Given the description of an element on the screen output the (x, y) to click on. 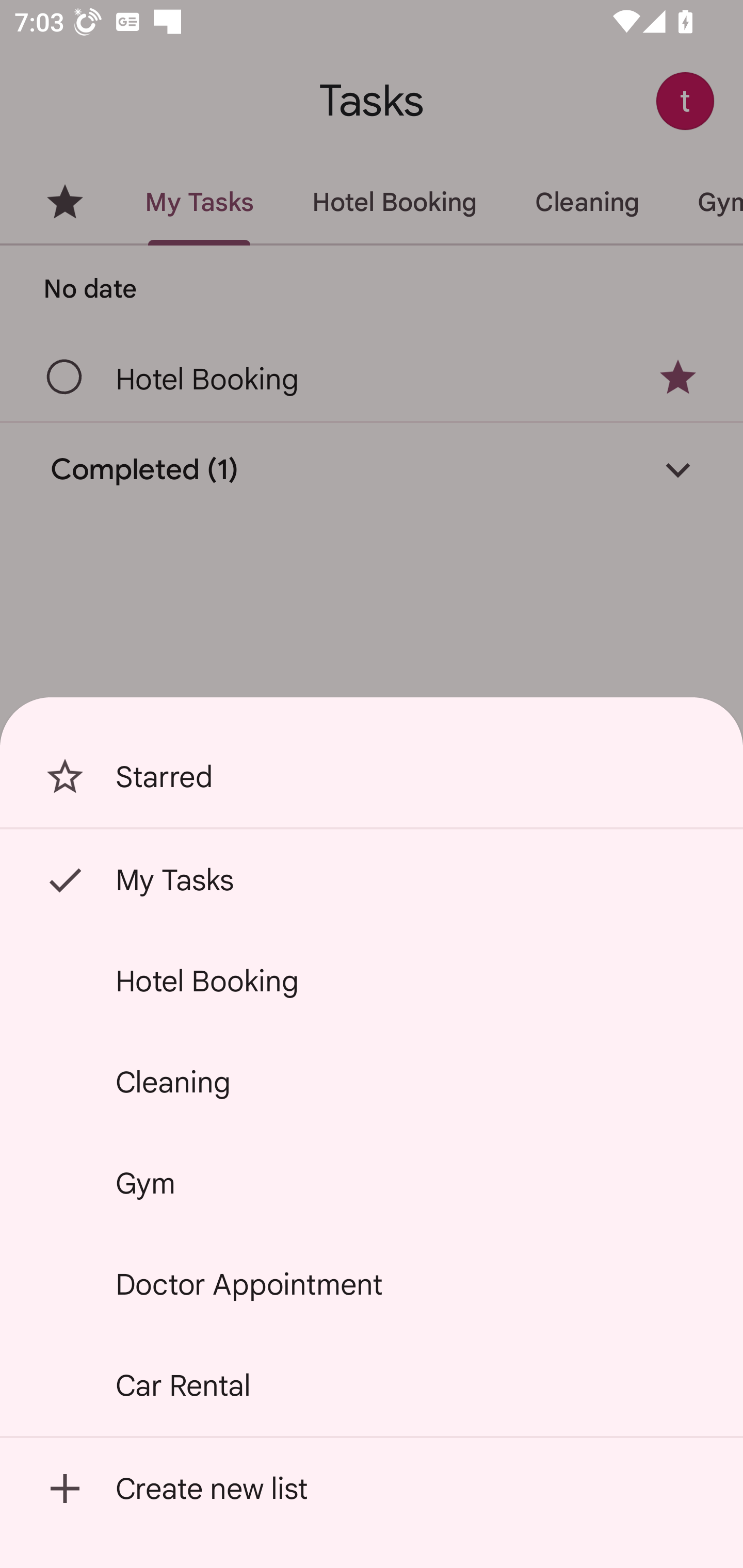
Starred (371, 776)
My Tasks (371, 879)
Hotel Booking (371, 980)
Cleaning (371, 1081)
Gym (371, 1183)
Doctor Appointment (371, 1284)
Car Rental (371, 1385)
Create new list (371, 1488)
